Given the description of an element on the screen output the (x, y) to click on. 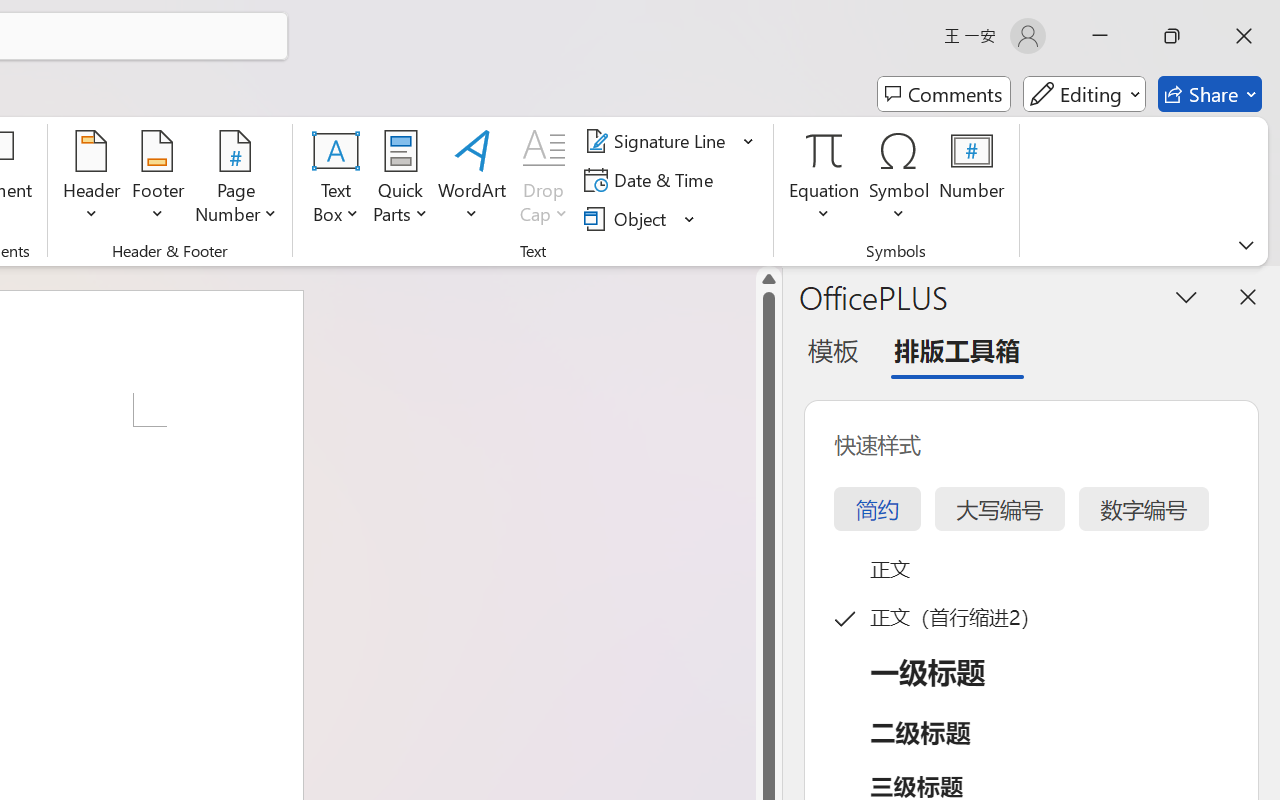
Symbol (899, 179)
Number... (971, 179)
Signature Line (669, 141)
Text Box (335, 179)
Page Number (236, 179)
Drop Cap (543, 179)
Line up (769, 278)
Equation (823, 179)
